Given the description of an element on the screen output the (x, y) to click on. 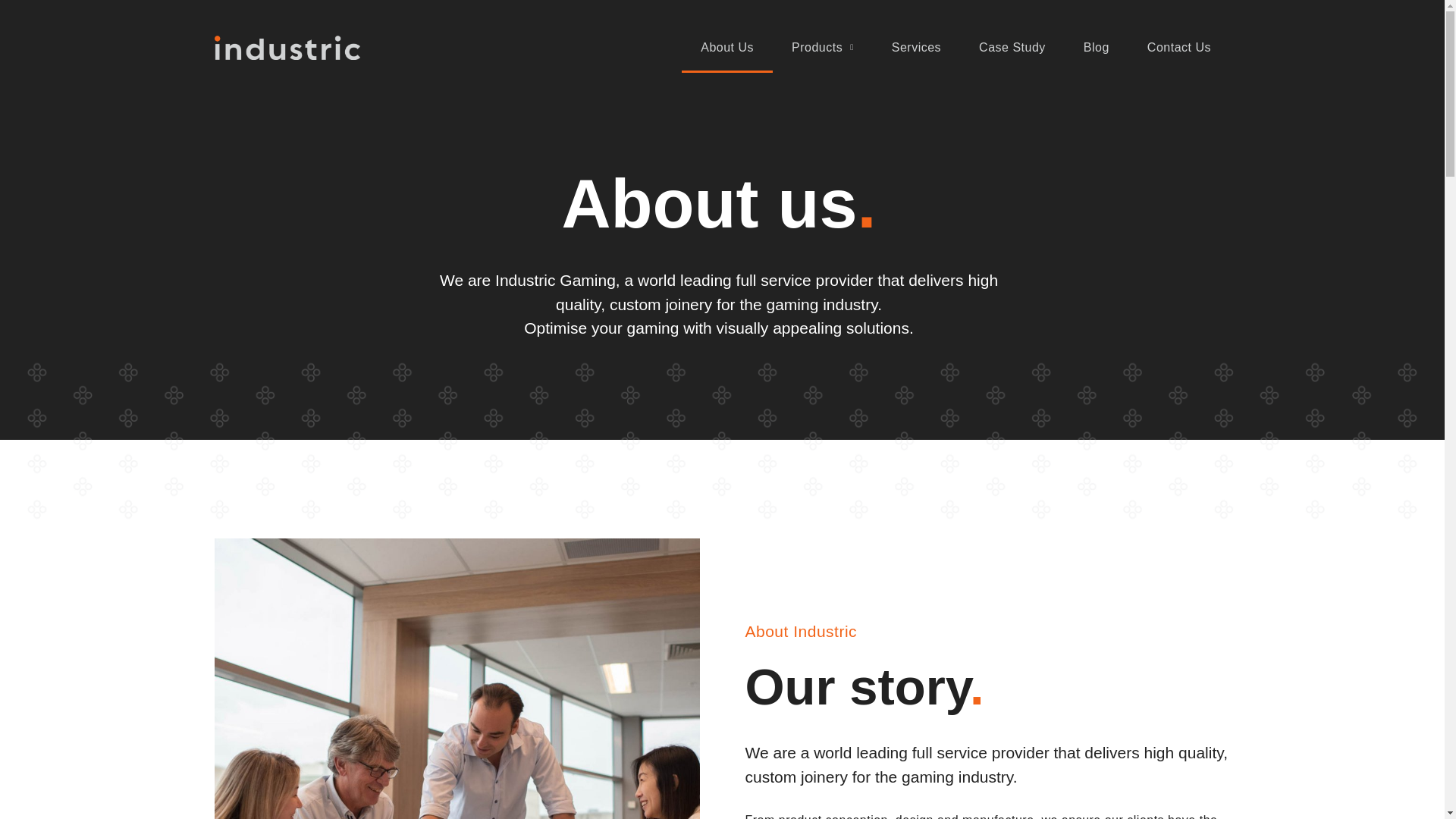
Blog (1096, 47)
Case Study (1011, 47)
Services (915, 47)
Products (822, 47)
Contact Us (1179, 47)
About Us (727, 47)
